Given the description of an element on the screen output the (x, y) to click on. 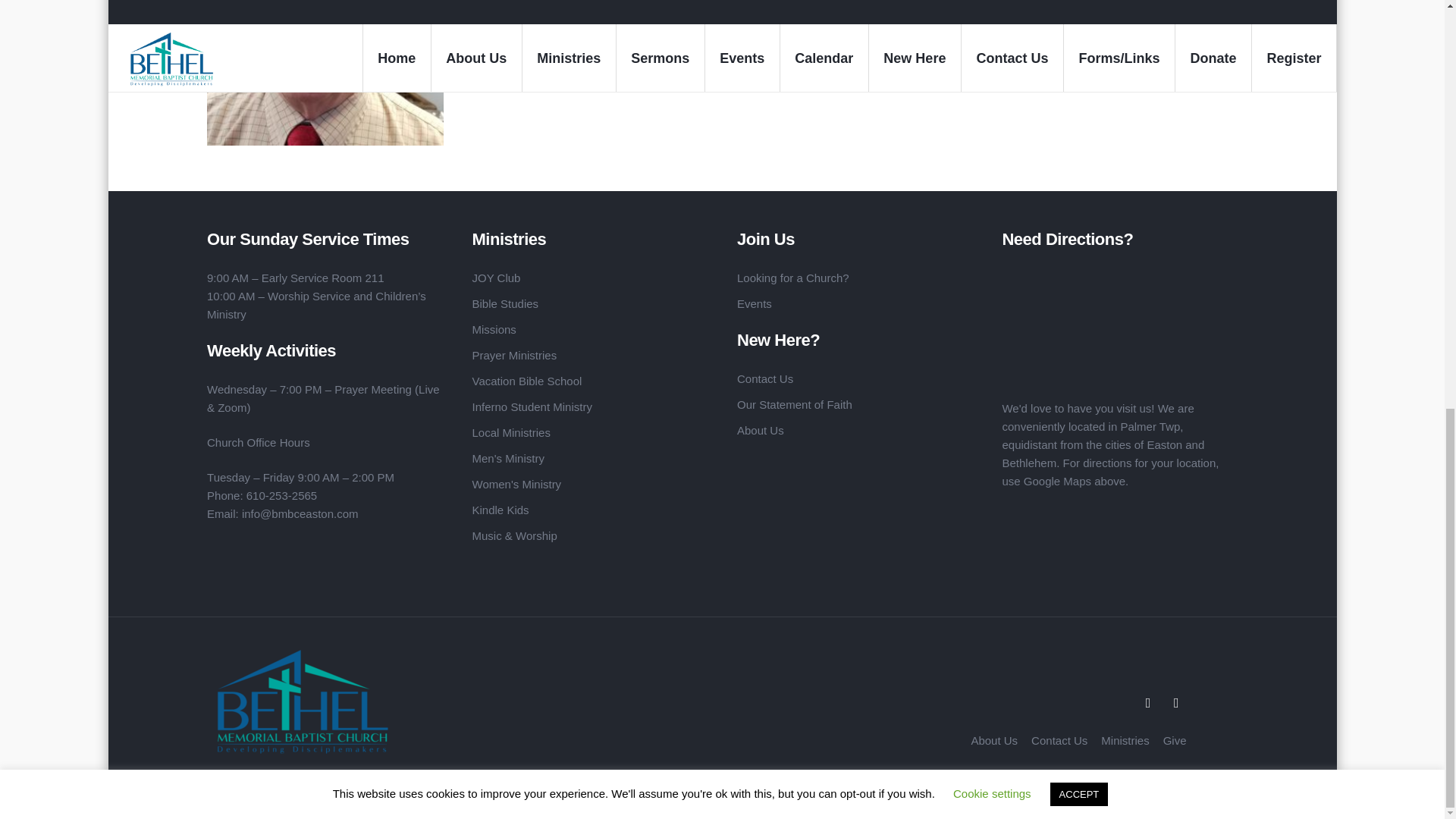
Bethel Memorial Baptist (372, 703)
facebook (1147, 703)
Sam Bodder (325, 72)
